Given the description of an element on the screen output the (x, y) to click on. 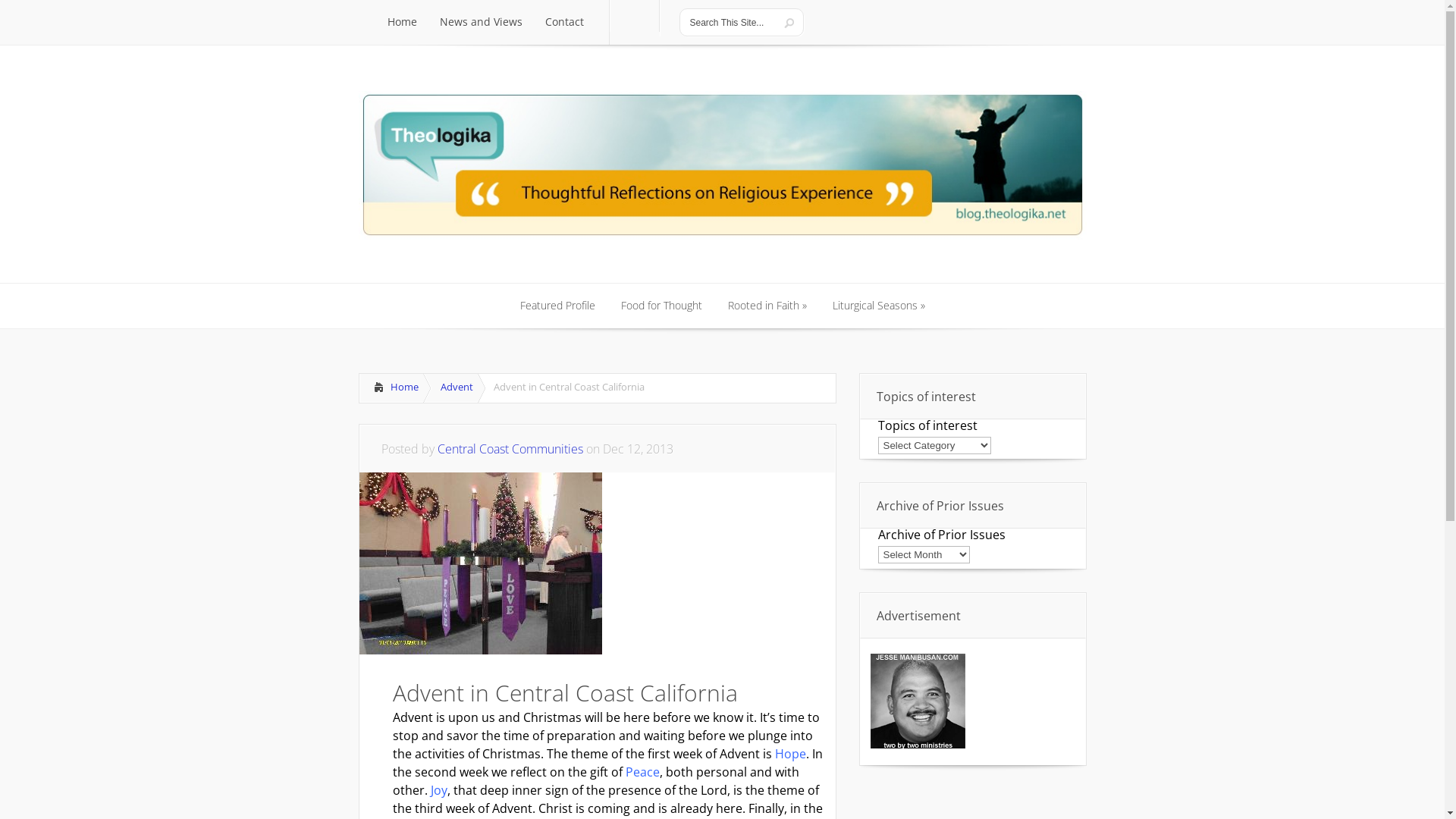
Food for Thought Element type: text (661, 305)
Jesse Manibusan, Two by Two Ministries Element type: hover (917, 700)
Advent Element type: text (453, 387)
Home Element type: text (390, 387)
Peace Element type: text (641, 771)
Rooted in Faith Element type: text (766, 305)
Contact Element type: text (564, 22)
Home Element type: text (402, 22)
Featured Profile Element type: text (556, 305)
News and Views Element type: text (480, 22)
Joy Element type: text (438, 789)
Central Coast Communities Element type: text (509, 448)
Liturgical Seasons Element type: text (877, 305)
Hope Element type: text (790, 753)
